Given the description of an element on the screen output the (x, y) to click on. 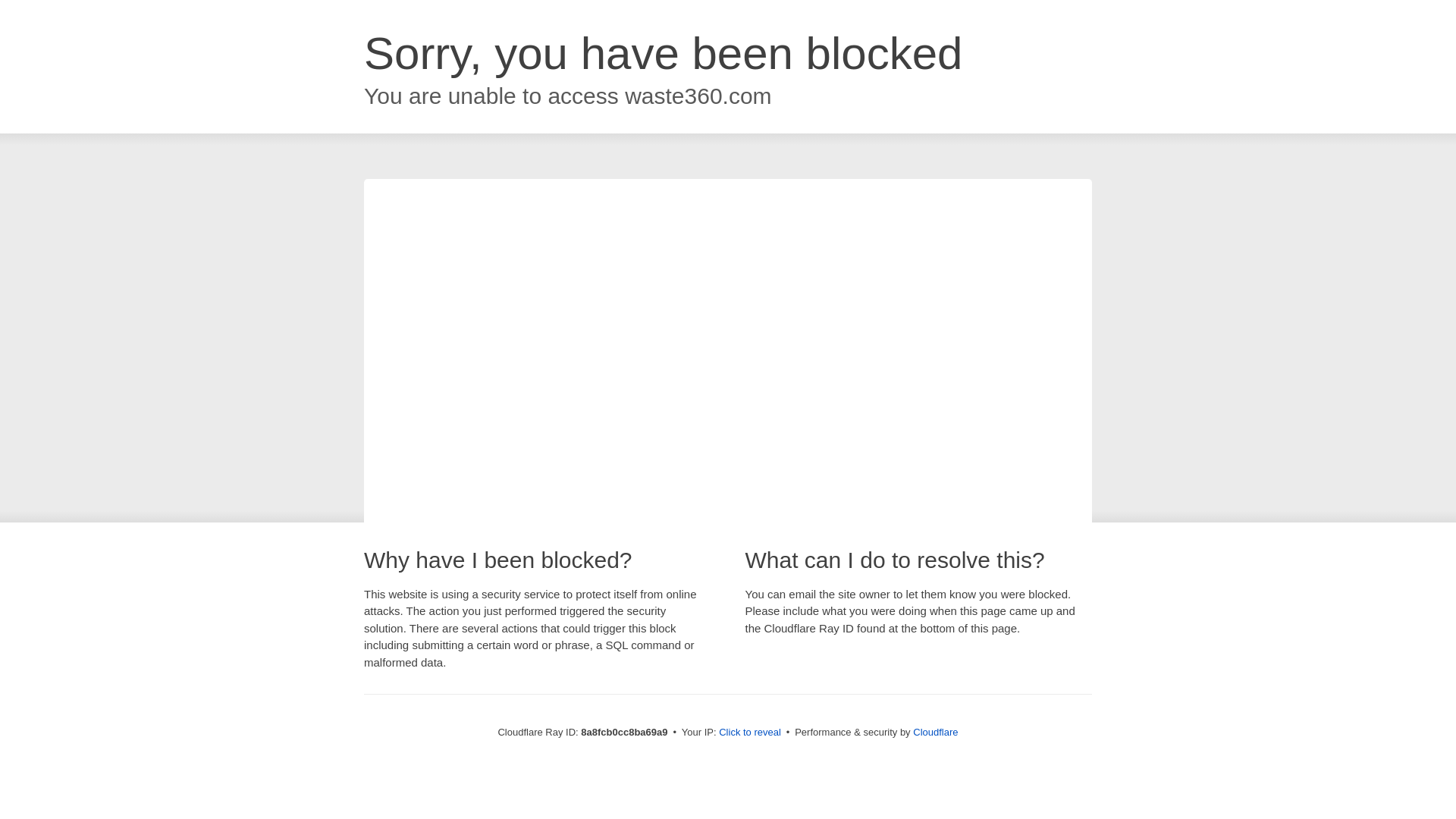
Cloudflare (935, 731)
Click to reveal (749, 732)
